Given the description of an element on the screen output the (x, y) to click on. 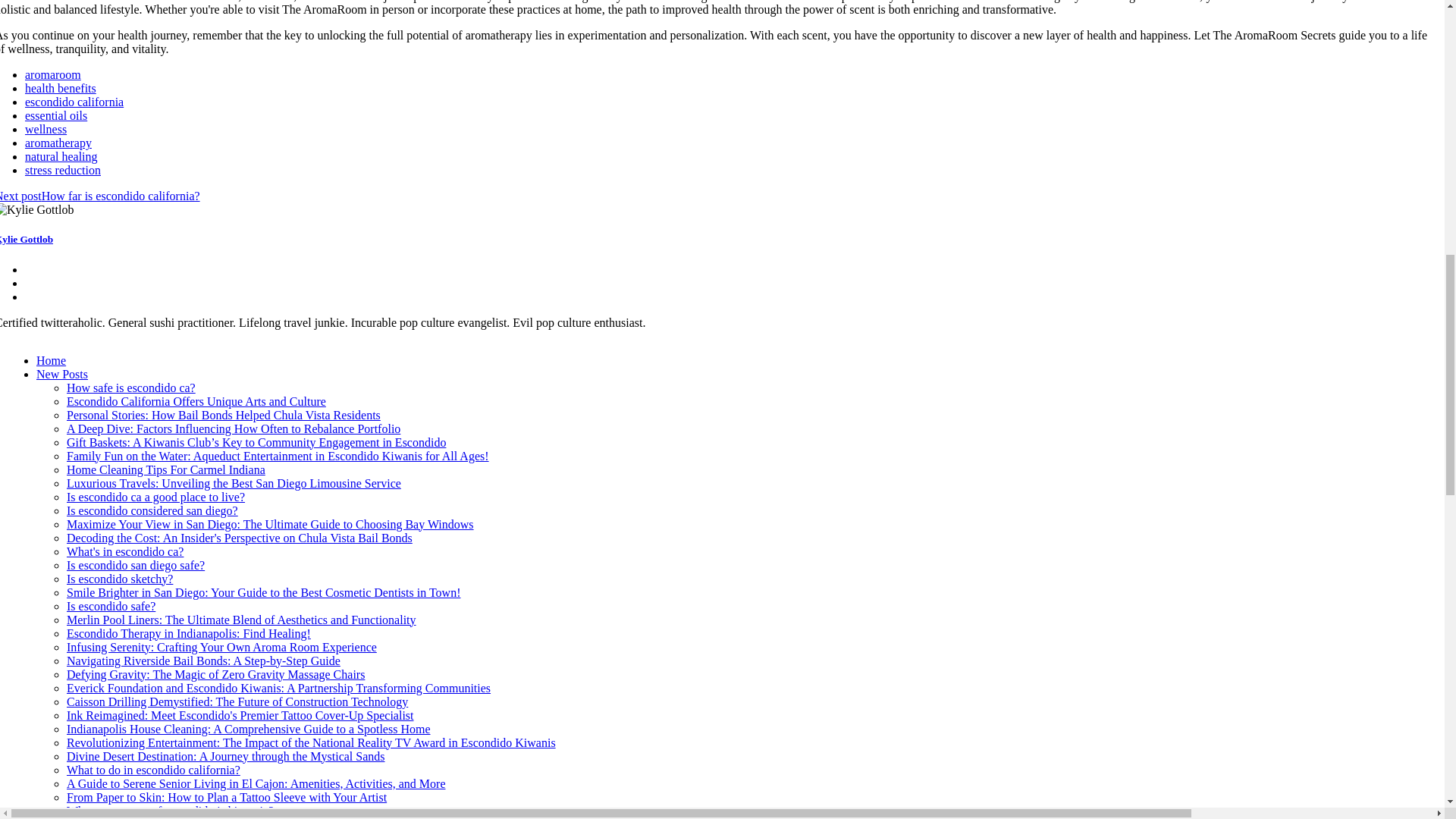
Is escondido safe? (110, 605)
Home Cleaning Tips For Carmel Indiana (165, 469)
escondido california (73, 101)
Kylie Gottlob (26, 238)
Escondido California Offers Unique Arts and Culture (196, 400)
wellness (45, 128)
Is escondido ca a good place to live? (155, 496)
Escondido Therapy in Indianapolis: Find Healing! (188, 633)
Is escondido san diego safe? (135, 564)
essential oils (55, 115)
aromaroom (52, 74)
How safe is escondido ca? (130, 387)
